Given the description of an element on the screen output the (x, y) to click on. 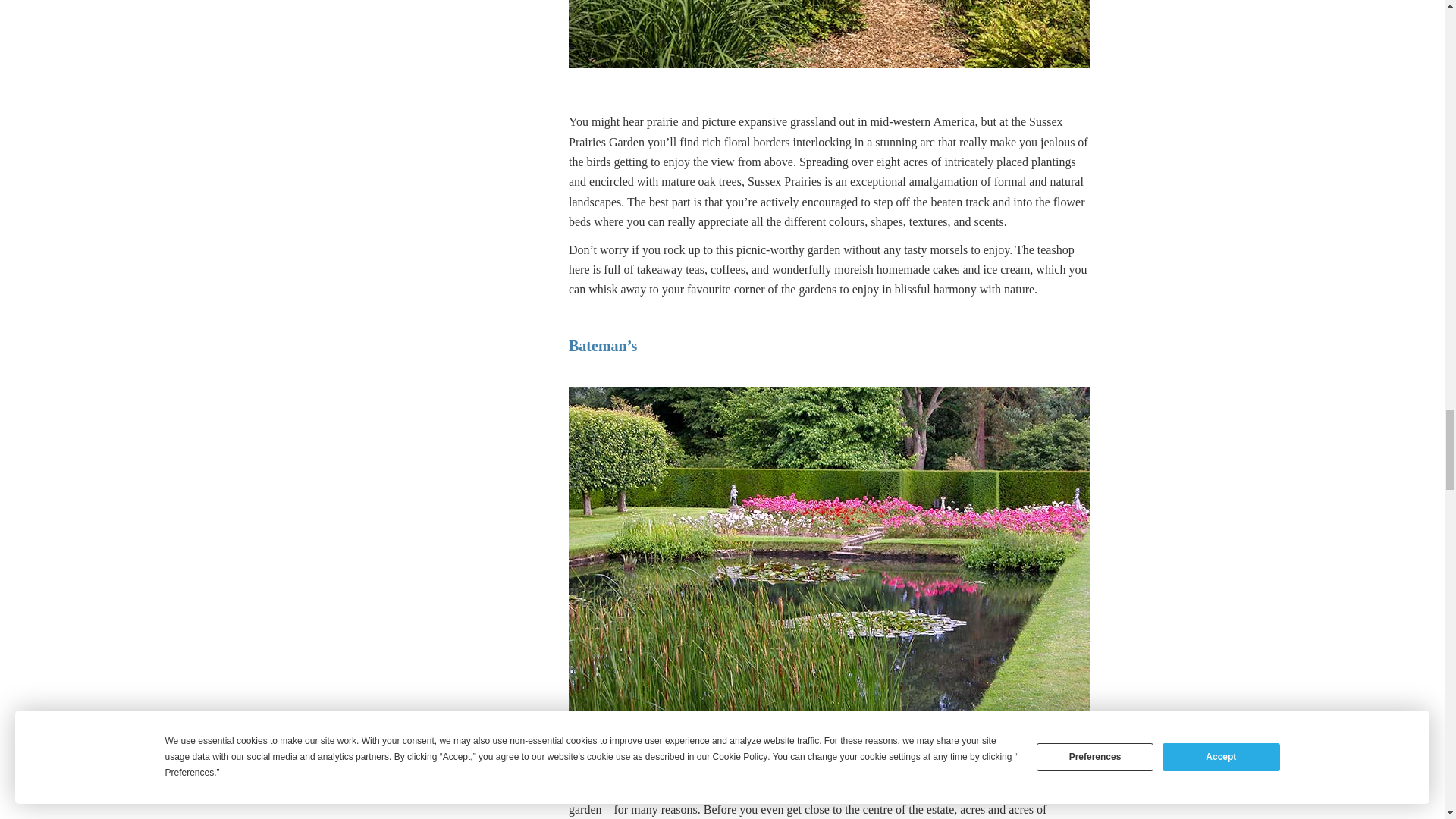
Image by Bryn Davies - Flickr (829, 33)
